Given the description of an element on the screen output the (x, y) to click on. 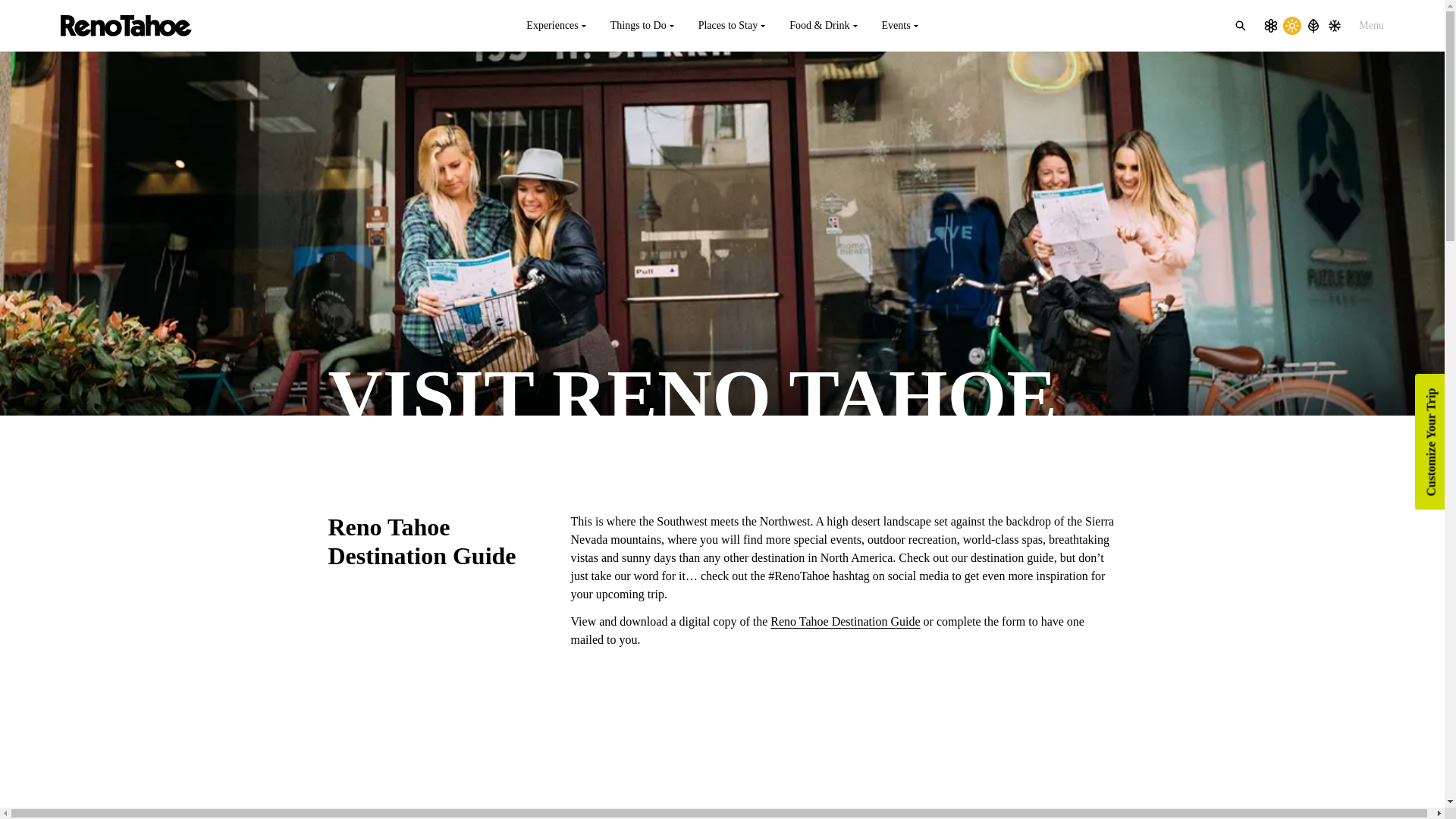
Places to Stay (731, 25)
Things to Do (641, 25)
Form 0 (721, 762)
Experiences (554, 25)
